Given the description of an element on the screen output the (x, y) to click on. 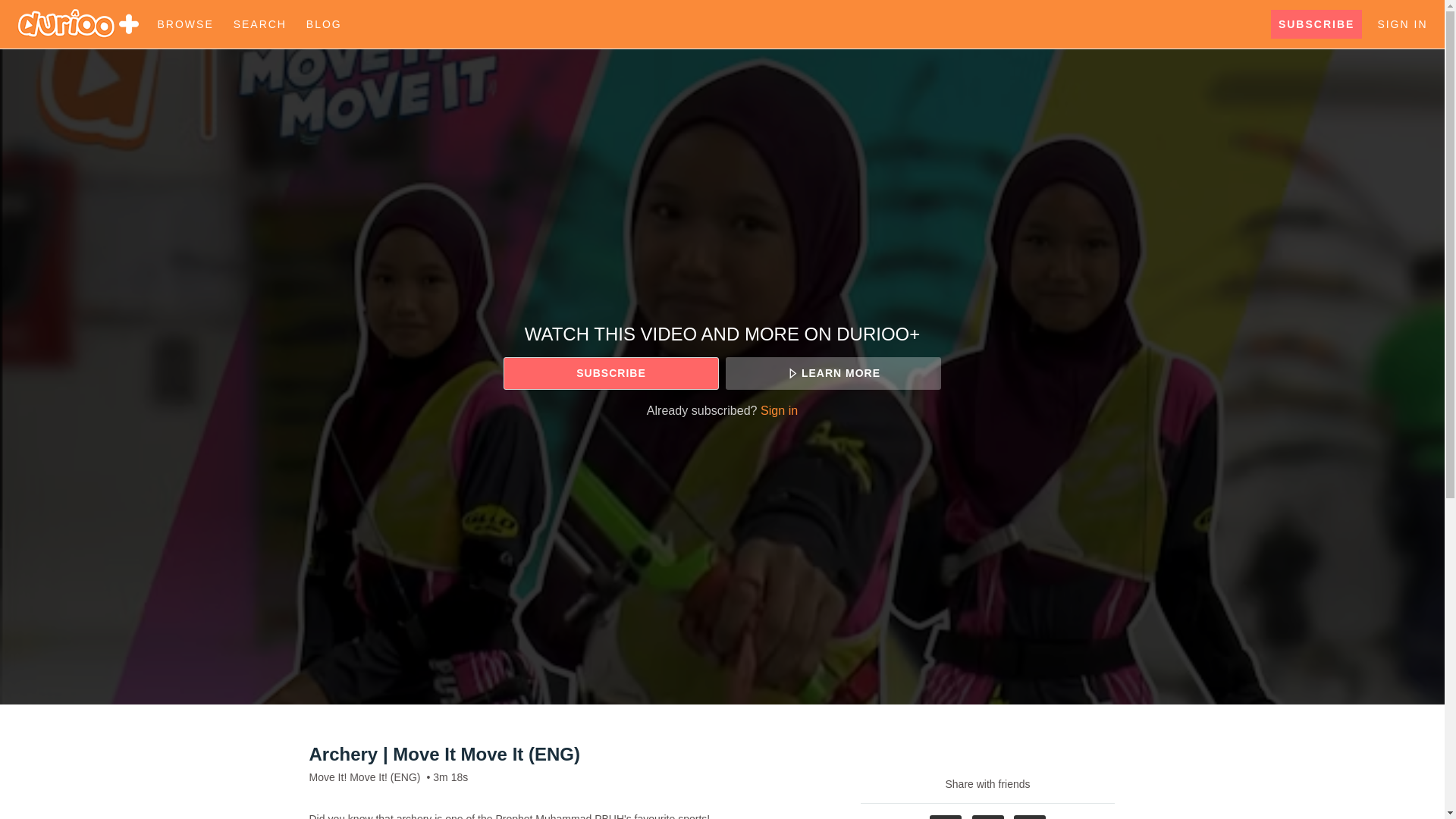
BLOG (323, 24)
SIGN IN (1401, 24)
SUBSCRIBE (610, 373)
SUBSCRIBE (1316, 23)
BROWSE (187, 24)
Twitter (988, 816)
LEARN MORE (832, 373)
Email (1029, 816)
SEARCH (261, 24)
Sign in (778, 409)
Facebook (945, 816)
Skip to main content (48, 7)
